Given the description of an element on the screen output the (x, y) to click on. 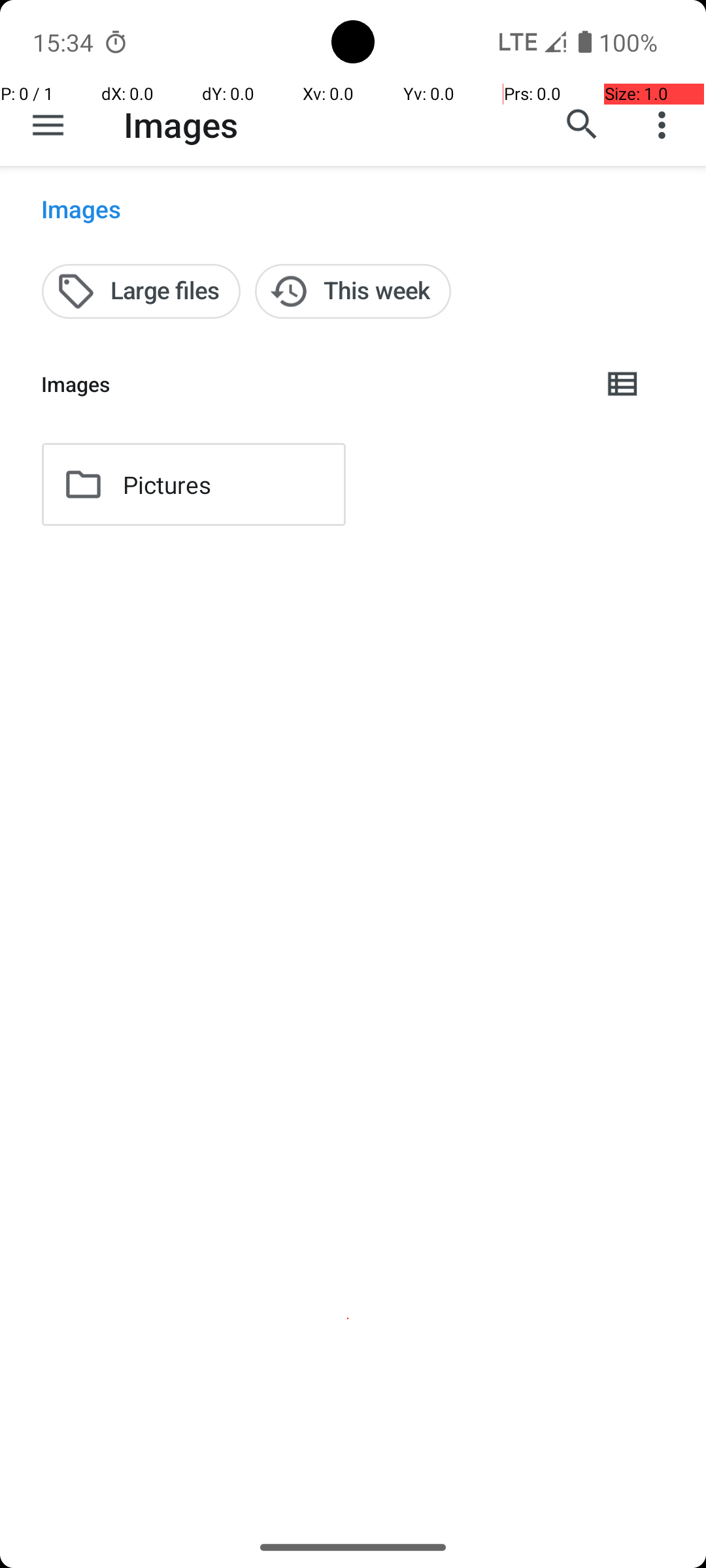
Pictures Element type: android.widget.TextView (166, 484)
